Given the description of an element on the screen output the (x, y) to click on. 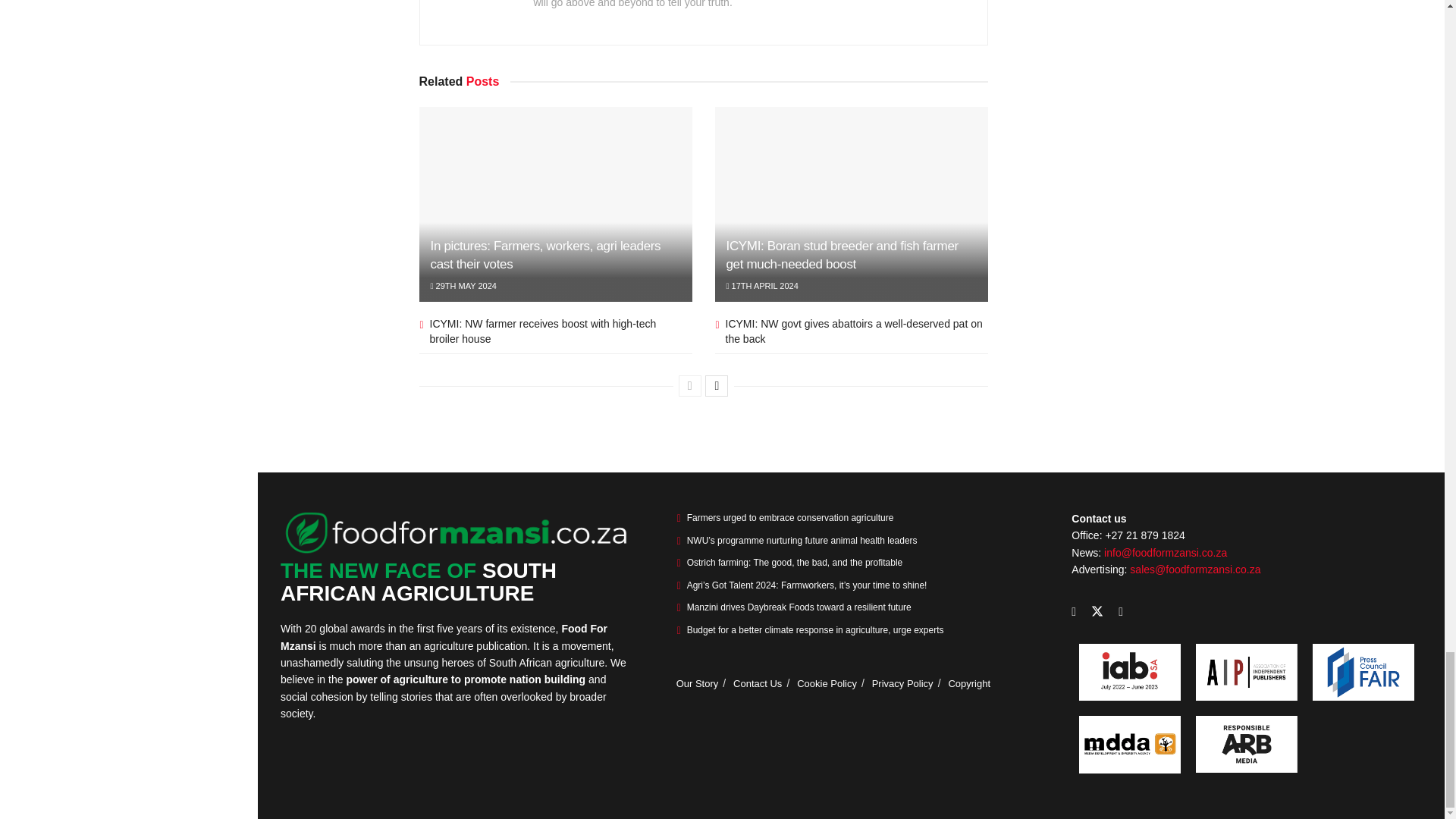
Next (716, 385)
Previous (689, 385)
